Given the description of an element on the screen output the (x, y) to click on. 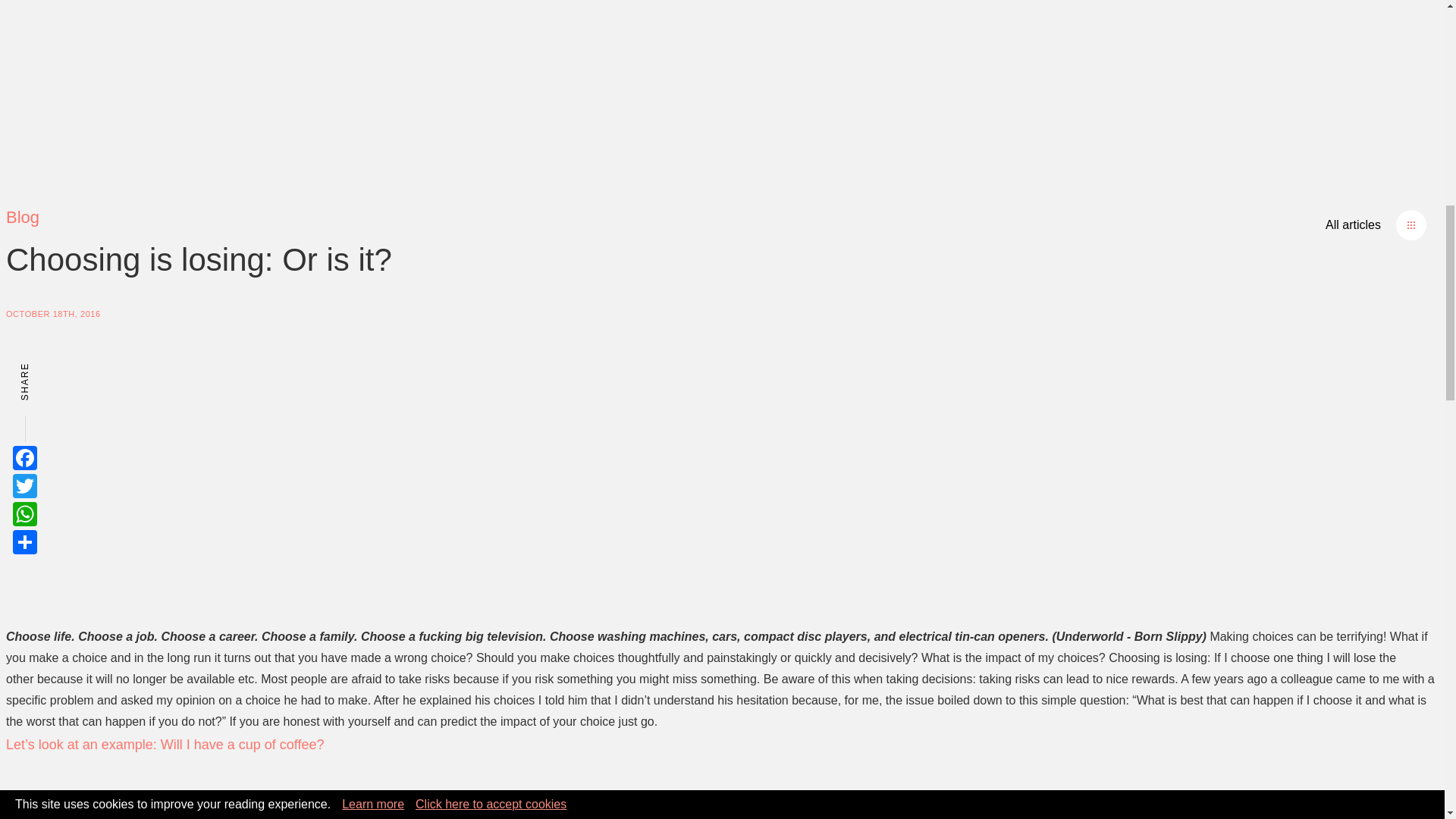
Share (25, 541)
All articles (1375, 224)
Facebook (25, 457)
WhatsApp (25, 514)
Twitter (25, 485)
